Given the description of an element on the screen output the (x, y) to click on. 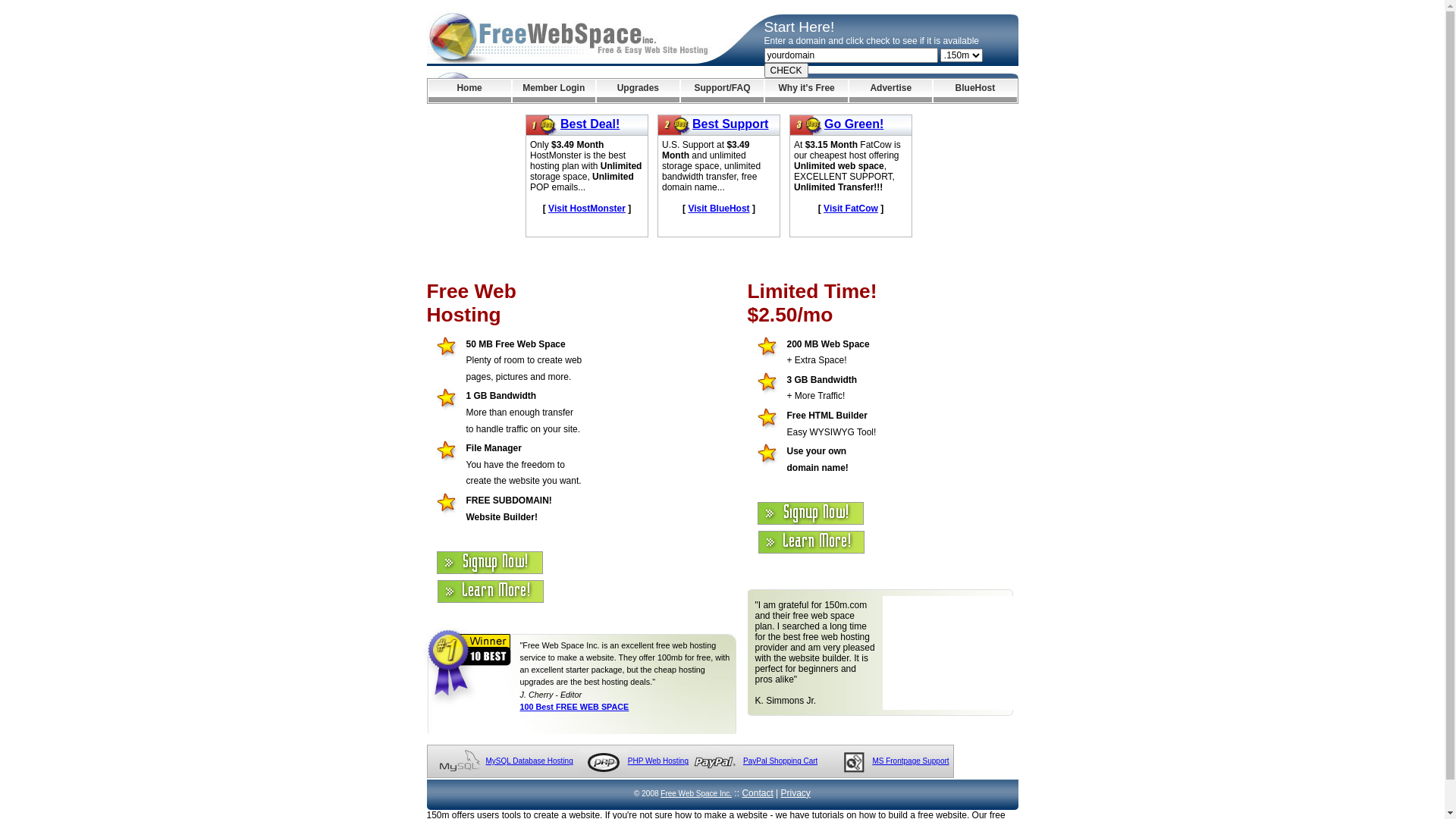
Contact Element type: text (756, 792)
PayPal Shopping Cart Element type: text (780, 760)
Free Web Space Inc. Element type: text (695, 793)
PHP Web Hosting Element type: text (657, 760)
Privacy Element type: text (795, 792)
100 Best FREE WEB SPACE Element type: text (574, 706)
Why it's Free Element type: text (806, 90)
Support/FAQ Element type: text (721, 90)
CHECK Element type: text (786, 70)
MS Frontpage Support Element type: text (910, 760)
Member Login Element type: text (553, 90)
BlueHost Element type: text (974, 90)
Advertise Element type: text (890, 90)
Home Element type: text (468, 90)
MySQL Database Hosting Element type: text (528, 760)
Upgrades Element type: text (637, 90)
